Given the description of an element on the screen output the (x, y) to click on. 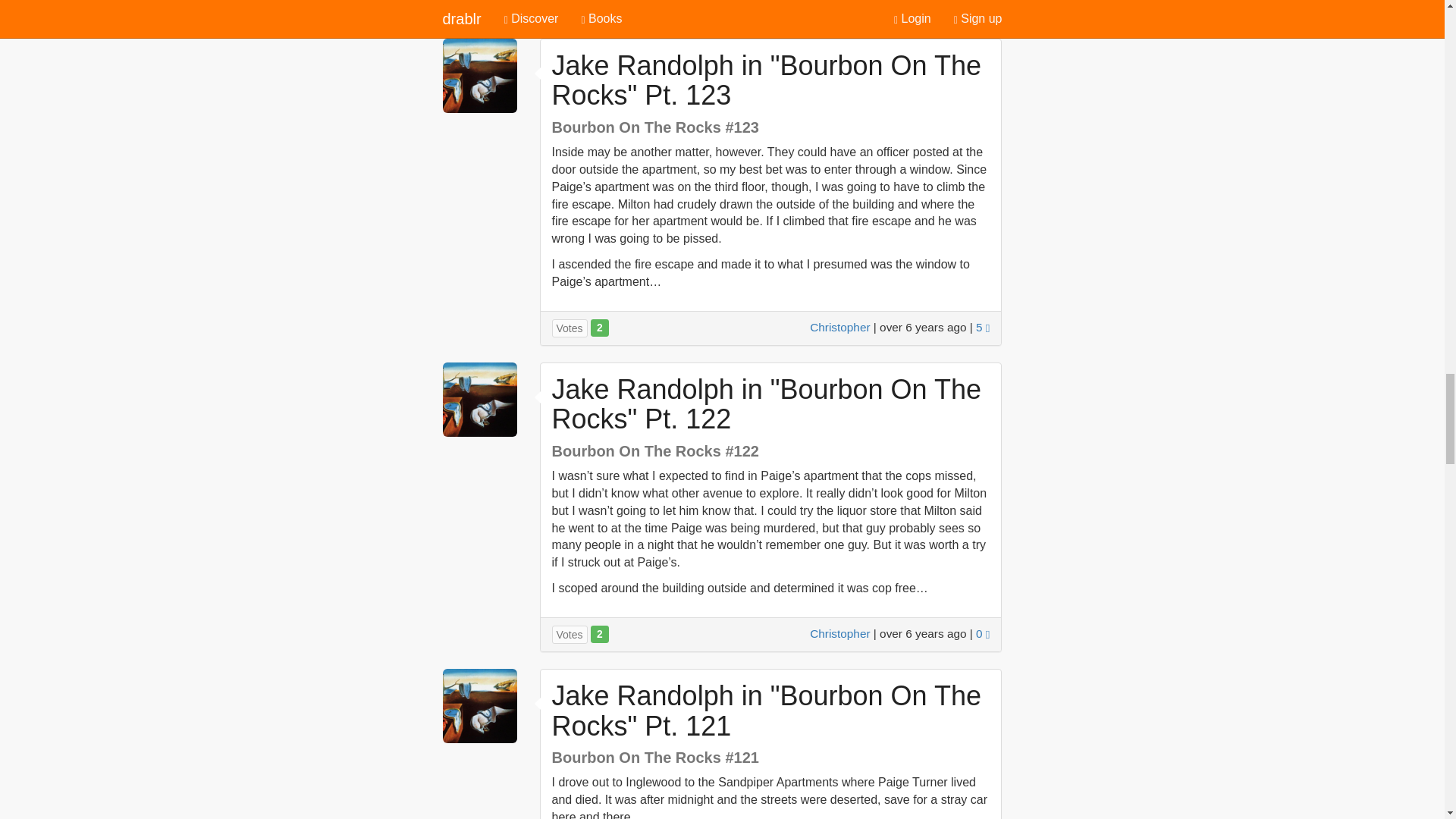
Comments (982, 327)
Comments (982, 633)
Comments (982, 4)
